Given the description of an element on the screen output the (x, y) to click on. 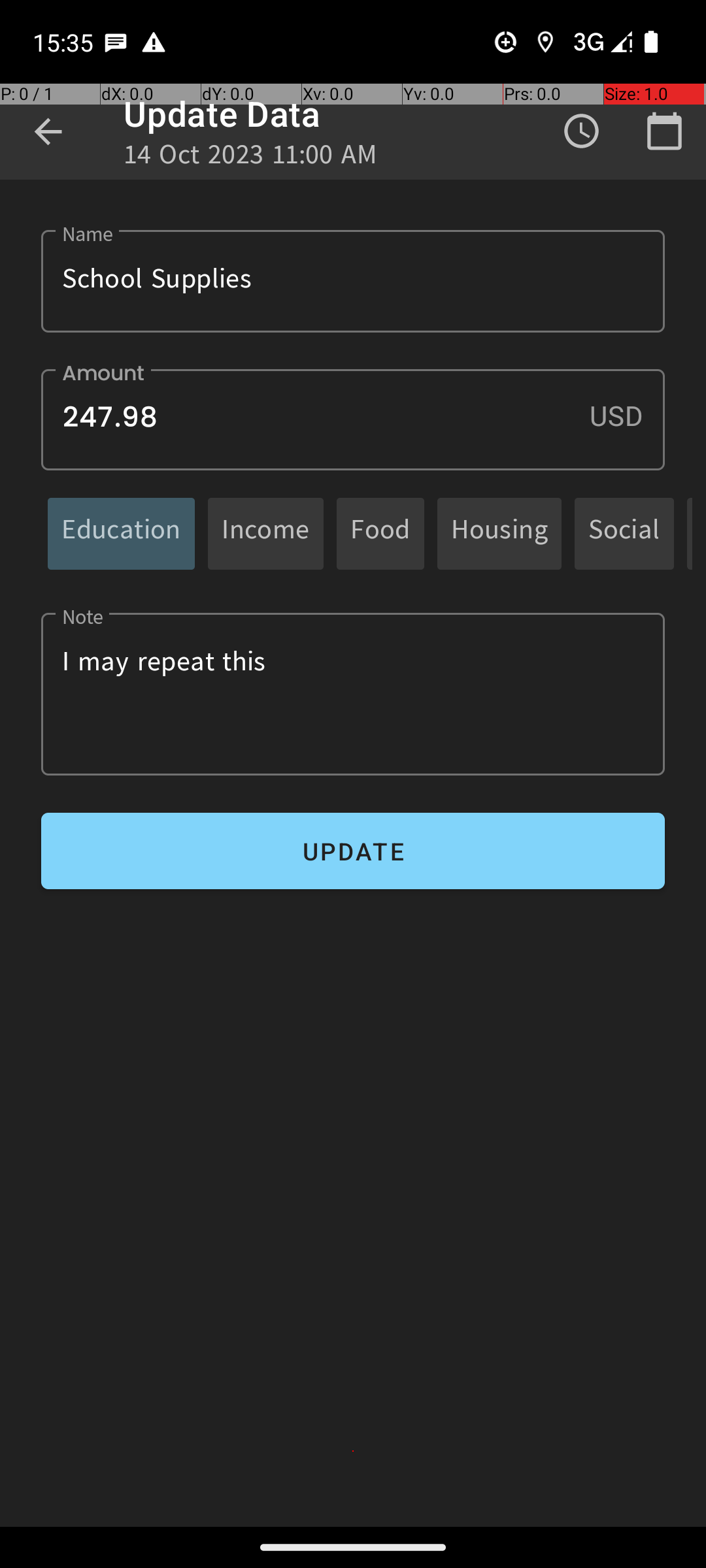
14 Oct 2023 11:00 AM Element type: android.widget.TextView (250, 157)
School Supplies Element type: android.widget.EditText (352, 280)
247.98 Element type: android.widget.EditText (352, 419)
I may repeat this Element type: android.widget.EditText (352, 693)
Education Element type: android.widget.TextView (121, 533)
15:35 Element type: android.widget.TextView (64, 41)
